Given the description of an element on the screen output the (x, y) to click on. 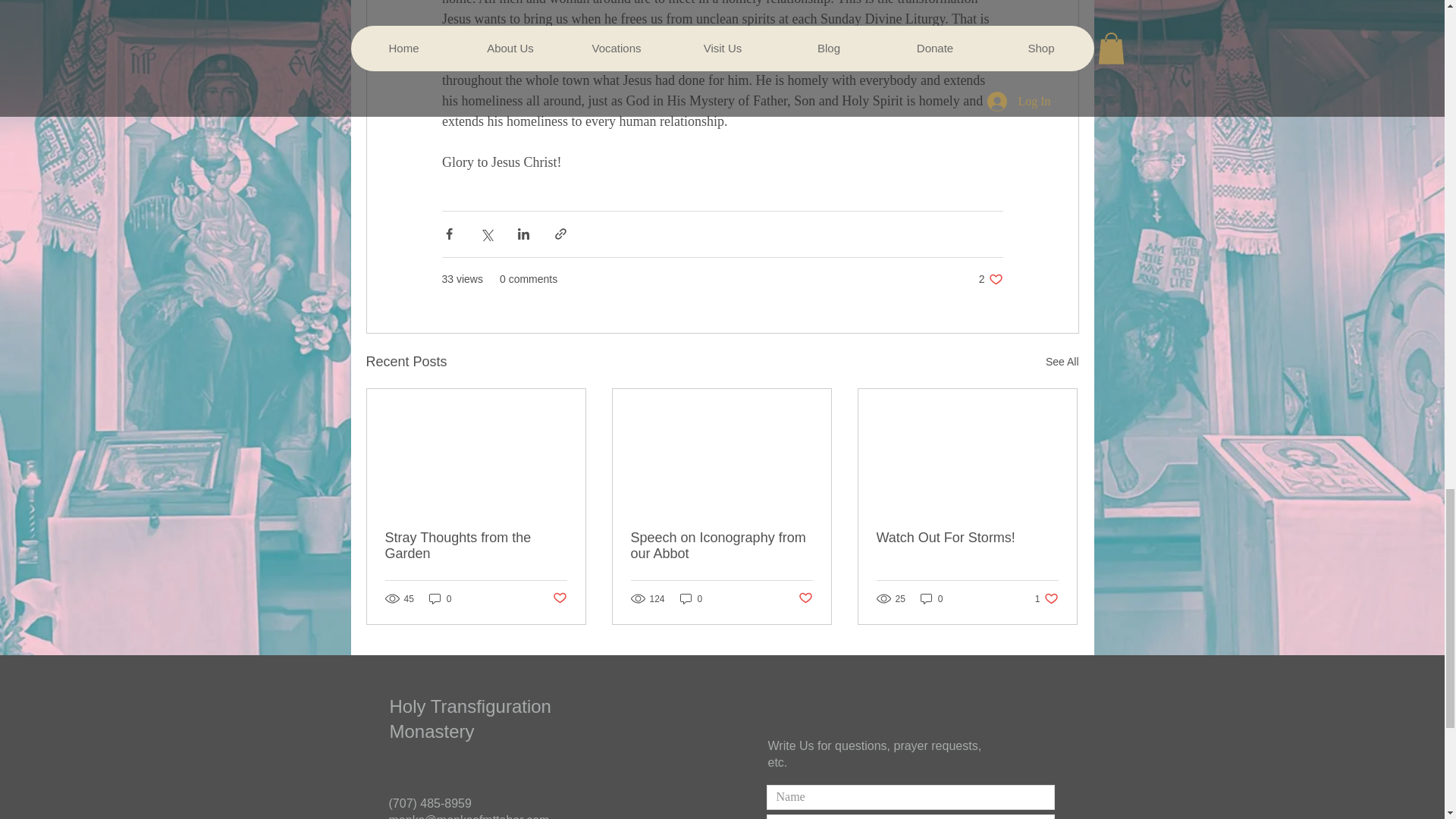
Speech on Iconography from our Abbot (721, 545)
Post not marked as liked (990, 278)
Watch Out For Storms! (558, 598)
0 (967, 537)
0 (1046, 598)
Stray Thoughts from the Garden (691, 598)
0 (440, 598)
See All (476, 545)
Post not marked as liked (931, 598)
